Given the description of an element on the screen output the (x, y) to click on. 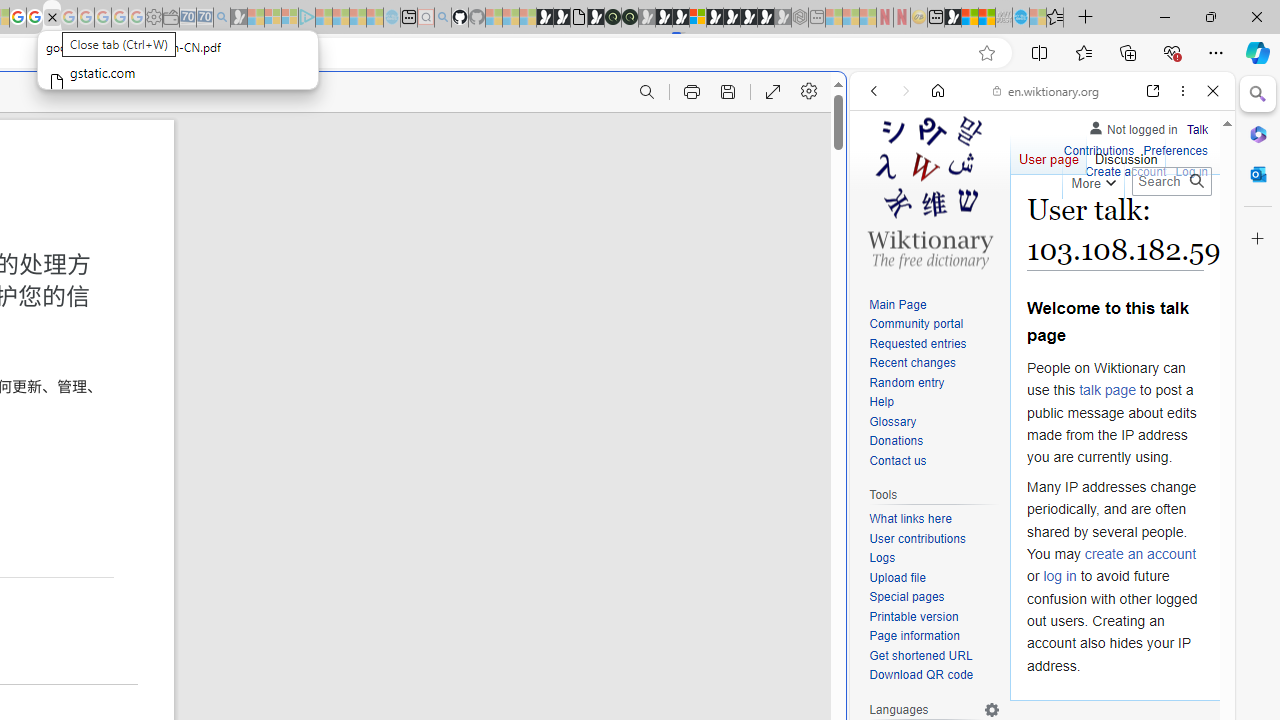
Services - Maintenance | Sky Blue Bikes - Sky Blue Bikes (1020, 17)
Wiktionary (1034, 669)
Main Page (934, 305)
Contact us (897, 460)
Donations (934, 442)
Get shortened URL (920, 655)
